Given the description of an element on the screen output the (x, y) to click on. 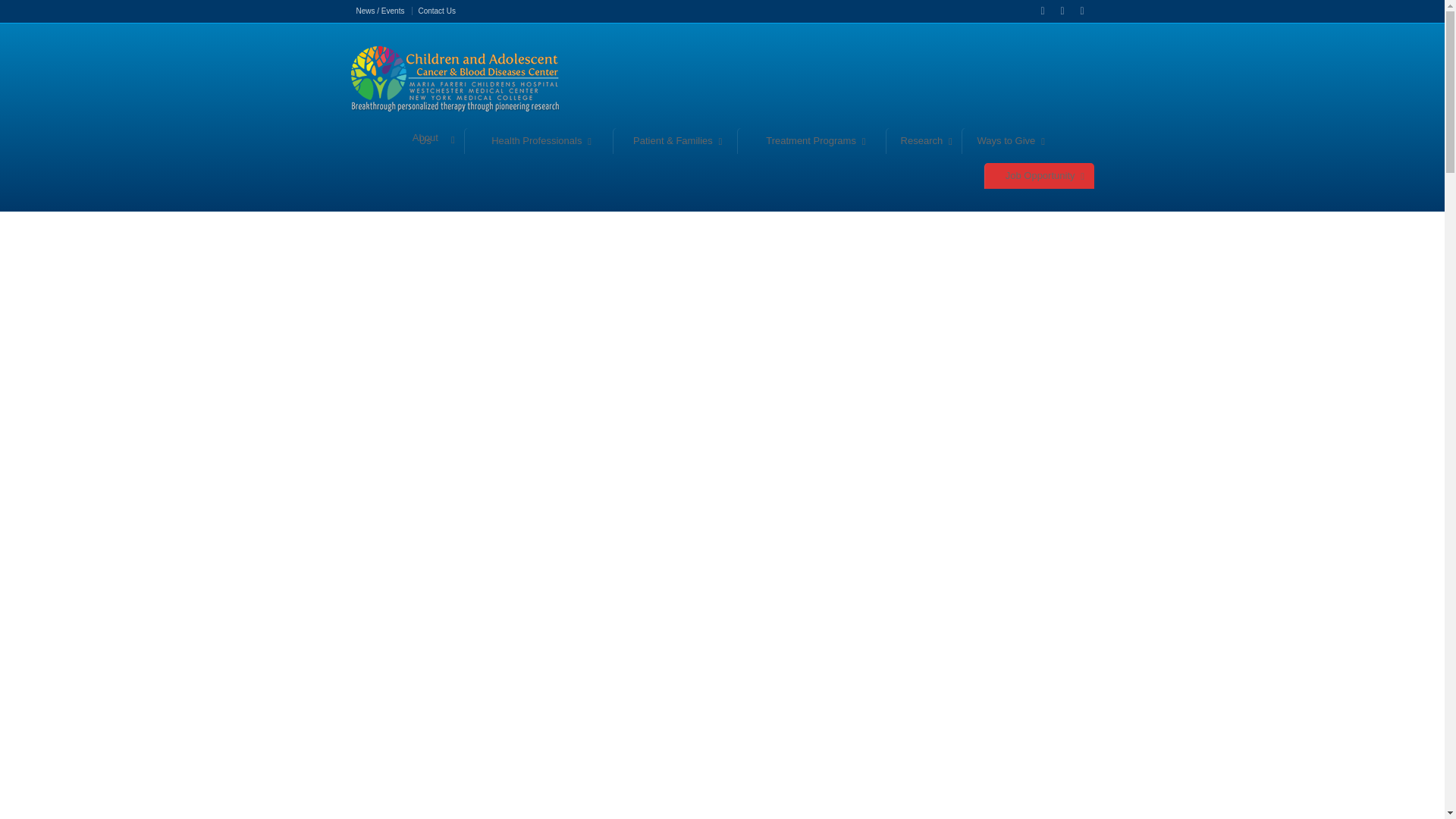
About Us (427, 139)
Contact Us (435, 10)
Health Professionals (538, 140)
